Given the description of an element on the screen output the (x, y) to click on. 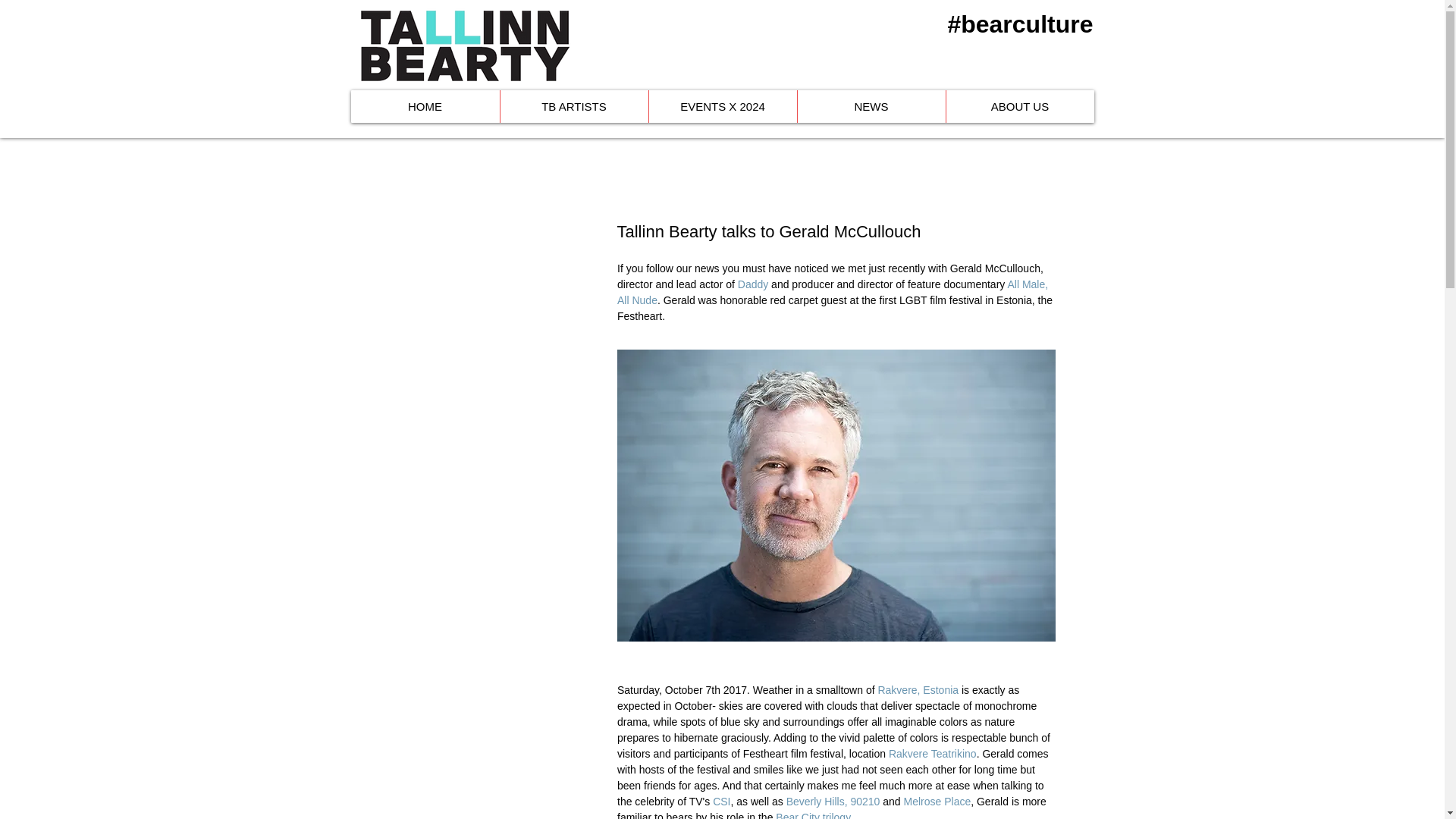
ABOUT US (1018, 106)
HOME (424, 106)
Bear City trilogy (813, 815)
TB ARTISTS (573, 106)
Daddy (751, 284)
CSI (721, 801)
EVENTS X 2024 (721, 106)
TB (464, 45)
NEWS (870, 106)
Rakvere, Estonia  (918, 689)
Rakvere Teatrikino (931, 753)
All Male, All Nude (833, 292)
Melrose Place (936, 801)
Beverly Hills, 90210 (832, 801)
